Given the description of an element on the screen output the (x, y) to click on. 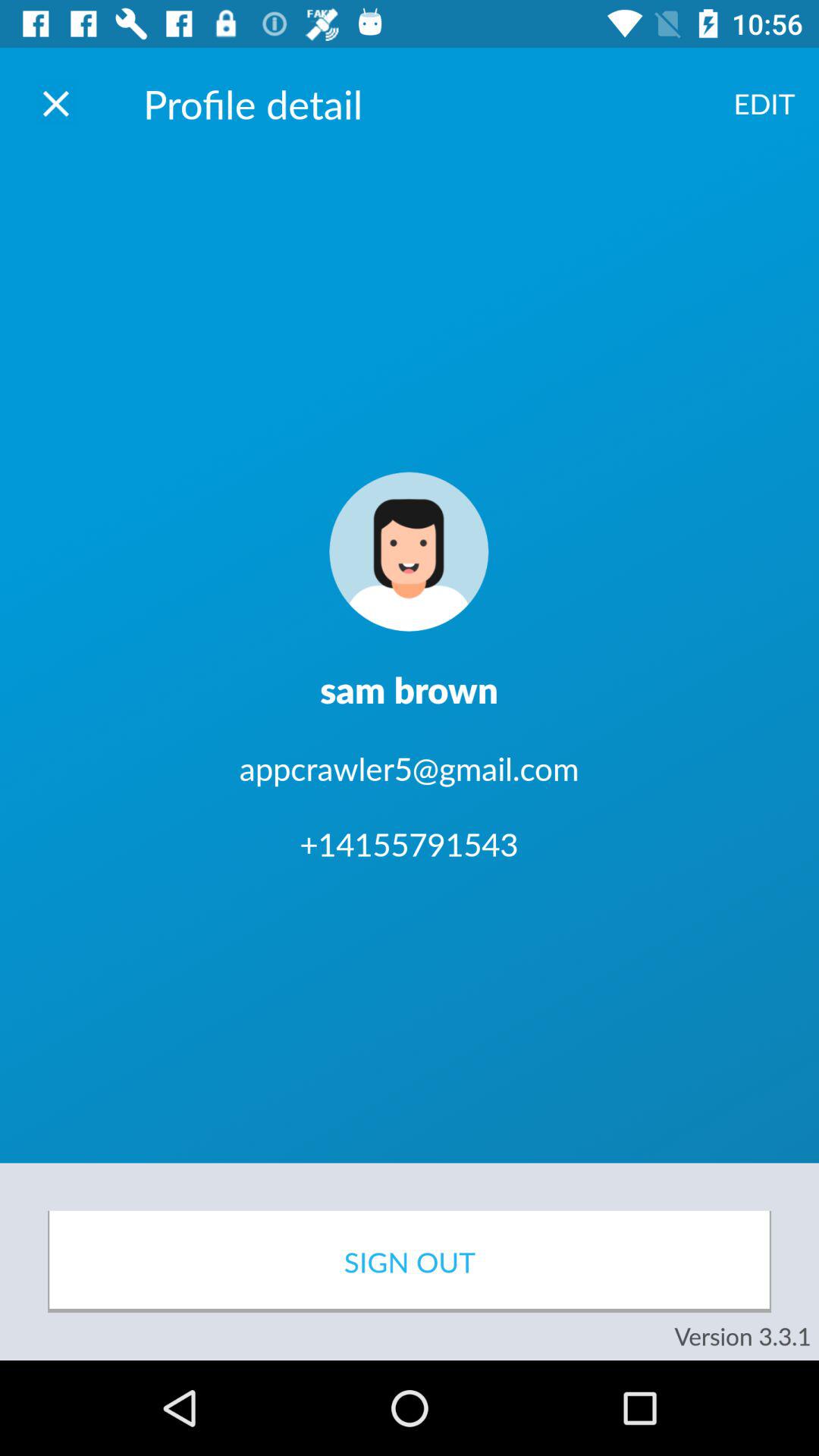
exit menu (55, 103)
